Given the description of an element on the screen output the (x, y) to click on. 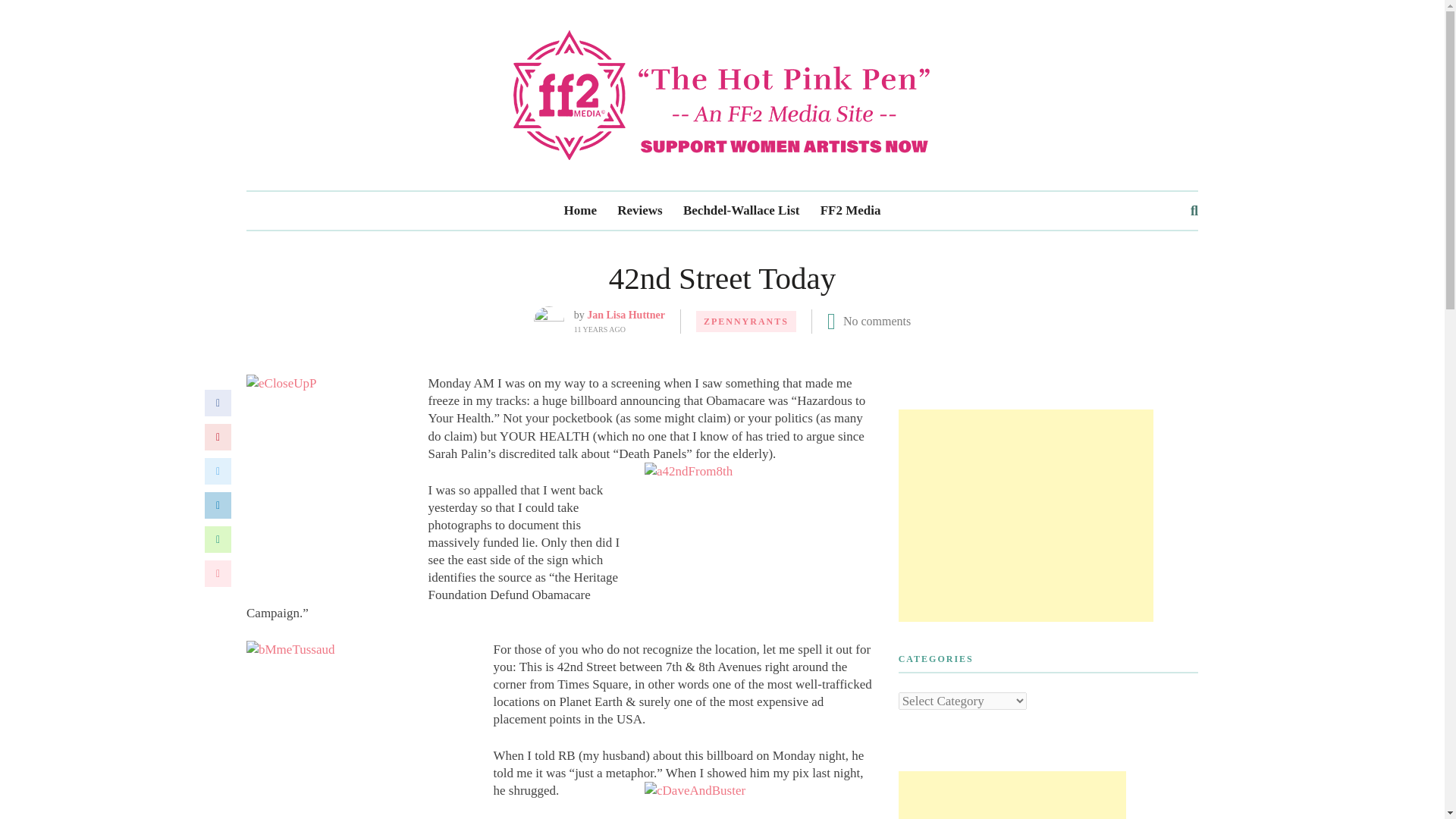
No comments (877, 320)
FF2 Media (850, 210)
ZPENNYRANTS (745, 321)
Jan Lisa Huttner (625, 315)
The Hot Pink Pen (722, 94)
Bechdel-Wallace List (740, 210)
Reviews (639, 210)
